Given the description of an element on the screen output the (x, y) to click on. 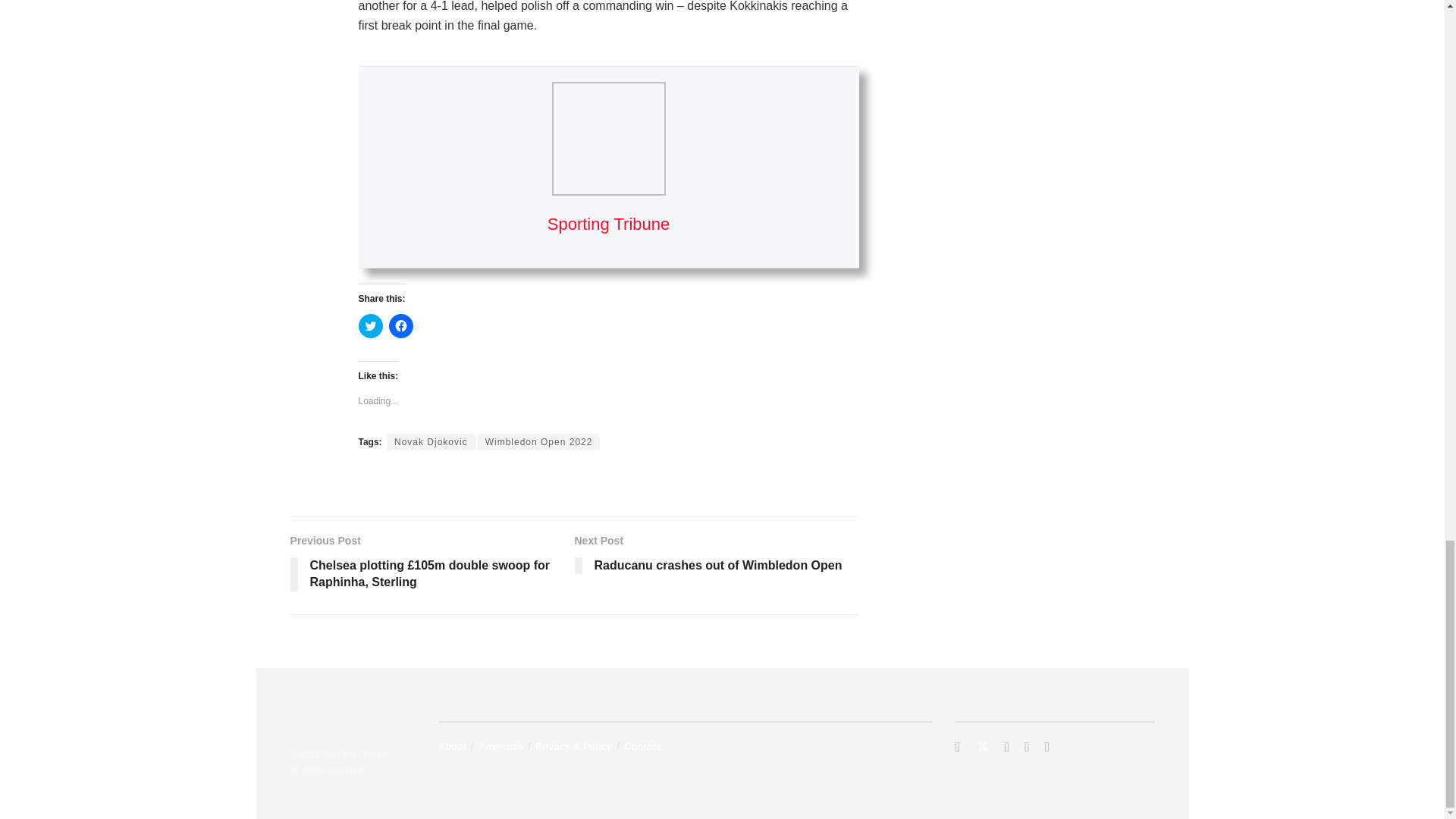
Click to share on Facebook (400, 325)
Click to share on Twitter (369, 325)
